Given the description of an element on the screen output the (x, y) to click on. 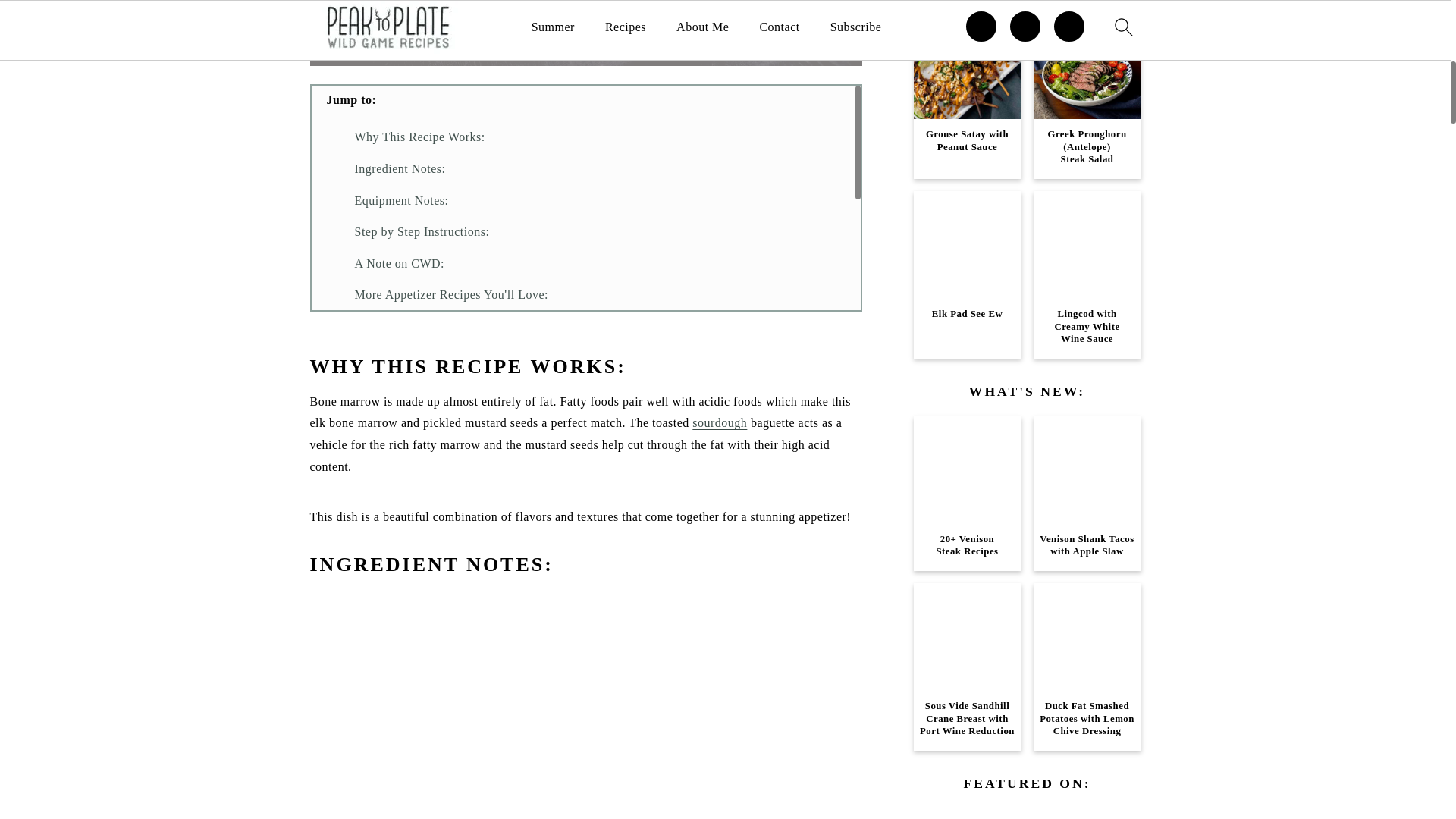
THIS RECIPE (584, 44)
Equipment Notes: (401, 200)
A Note on CWD: (400, 263)
Why This Recipe Works: (419, 136)
Ingredient Notes: (400, 168)
Step by Step Instructions: (422, 231)
